Given the description of an element on the screen output the (x, y) to click on. 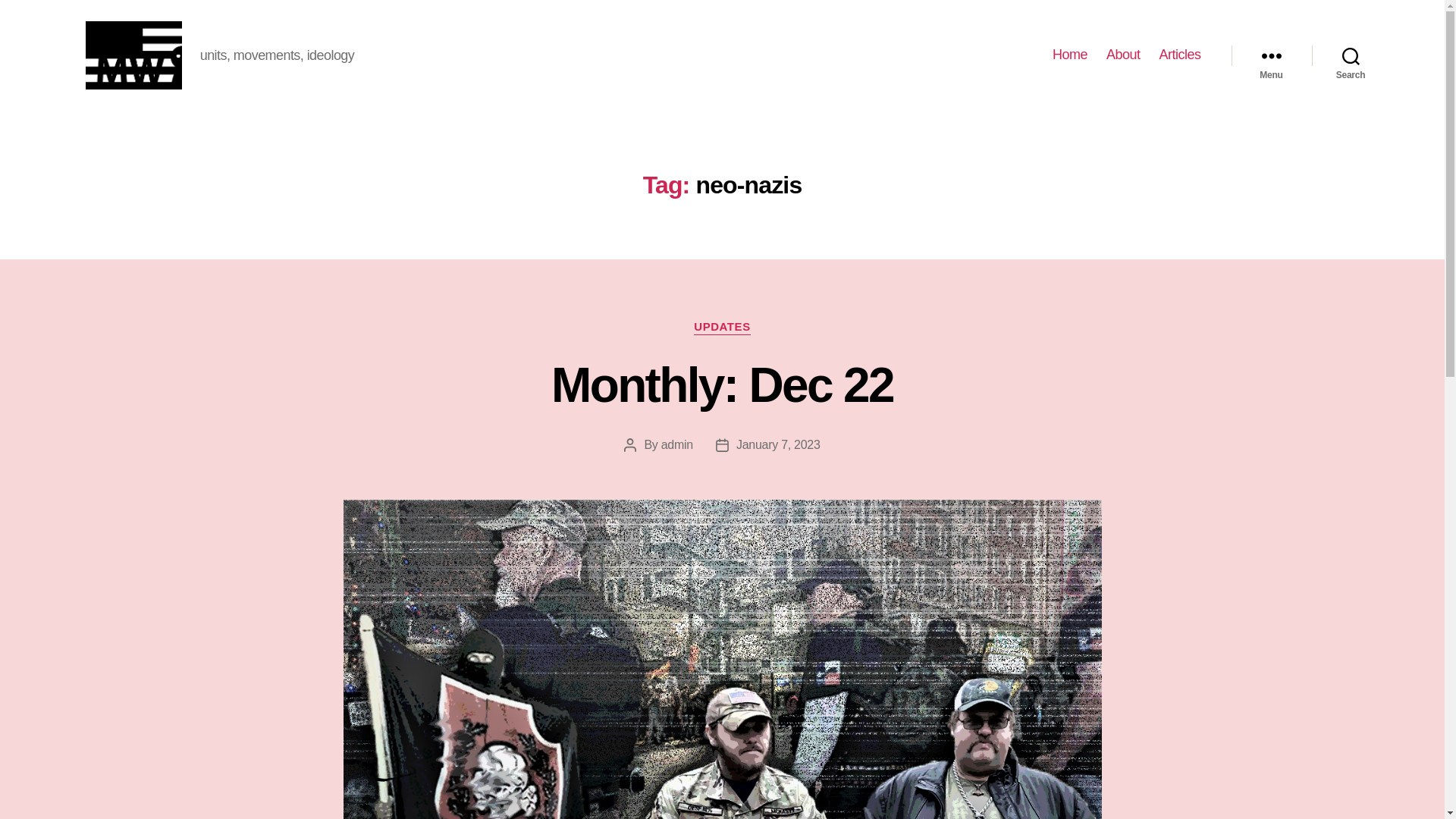
Menu (1271, 55)
Monthly: Dec 22 (722, 384)
About (1123, 54)
admin (677, 444)
Home (1069, 54)
Search (1350, 55)
Articles (1178, 54)
January 7, 2023 (778, 444)
UPDATES (721, 327)
